Given the description of an element on the screen output the (x, y) to click on. 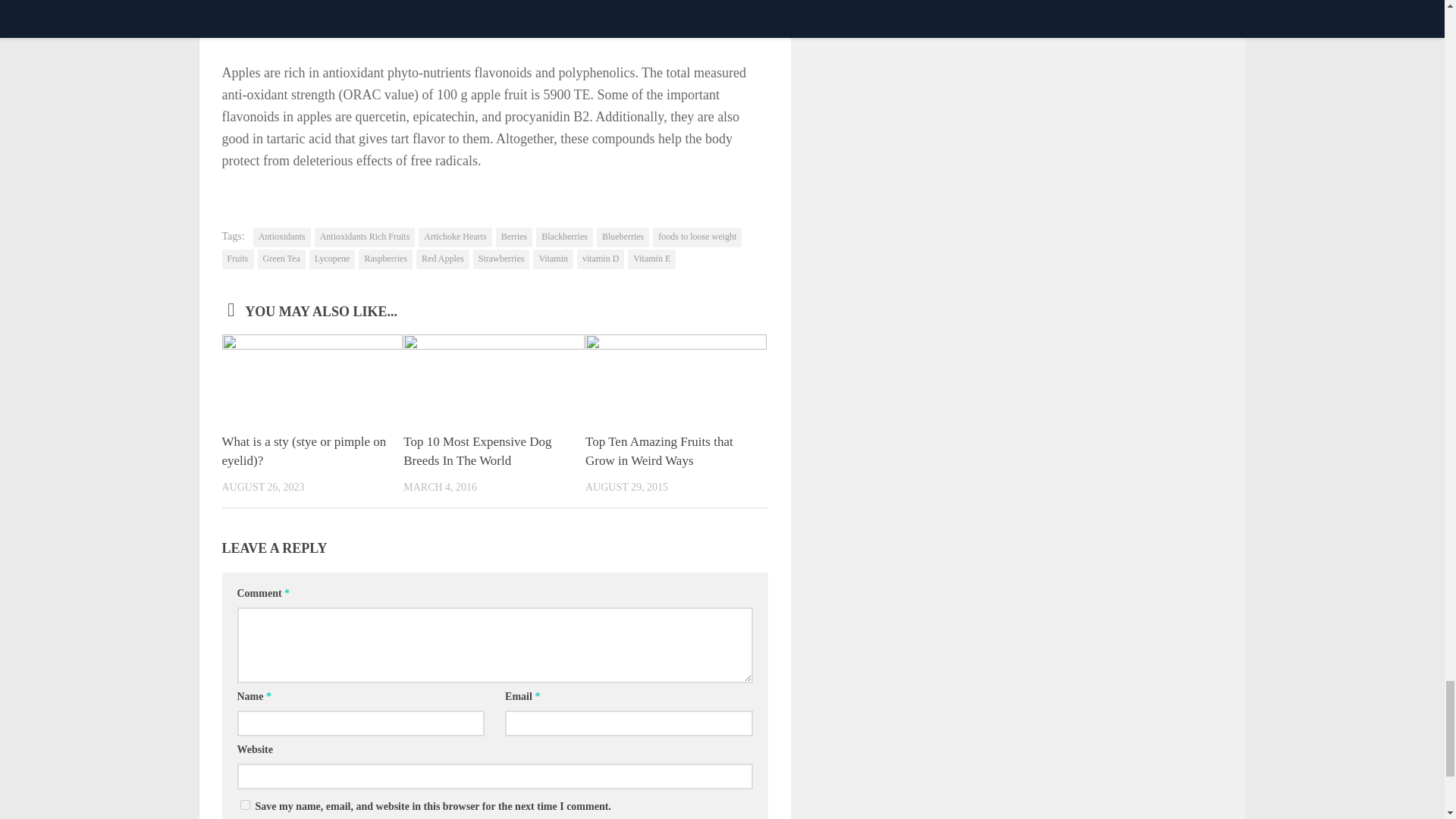
yes (244, 804)
Antioxidants Rich Fruits (364, 237)
Berries (514, 237)
Antioxidants (282, 237)
foods to loose weight (696, 237)
Fruits (237, 259)
Green Tea (281, 259)
Artichoke Hearts (455, 237)
Blueberries (622, 237)
Blackberries (563, 237)
